Given the description of an element on the screen output the (x, y) to click on. 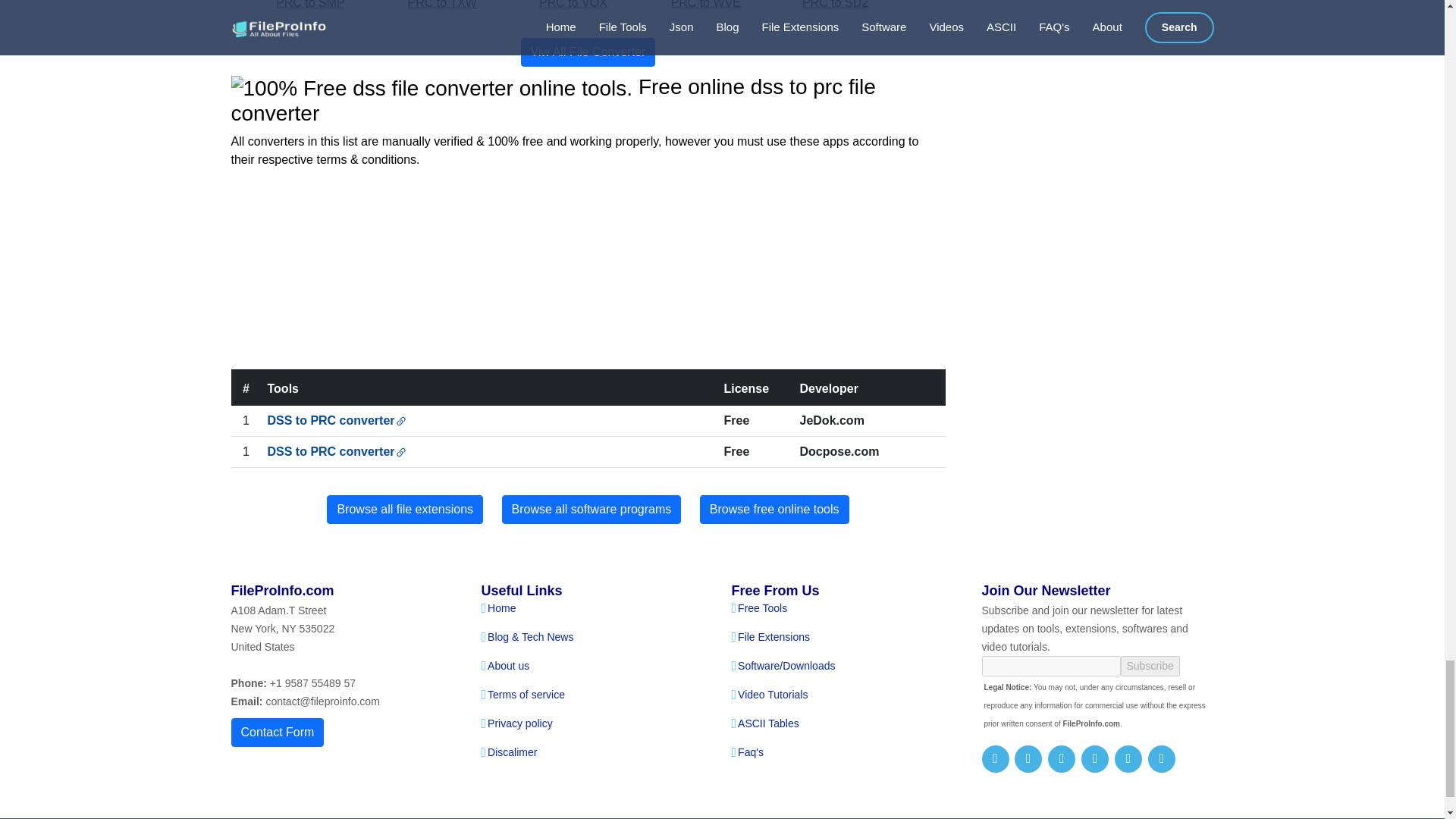
Subscribe (1150, 666)
